Given the description of an element on the screen output the (x, y) to click on. 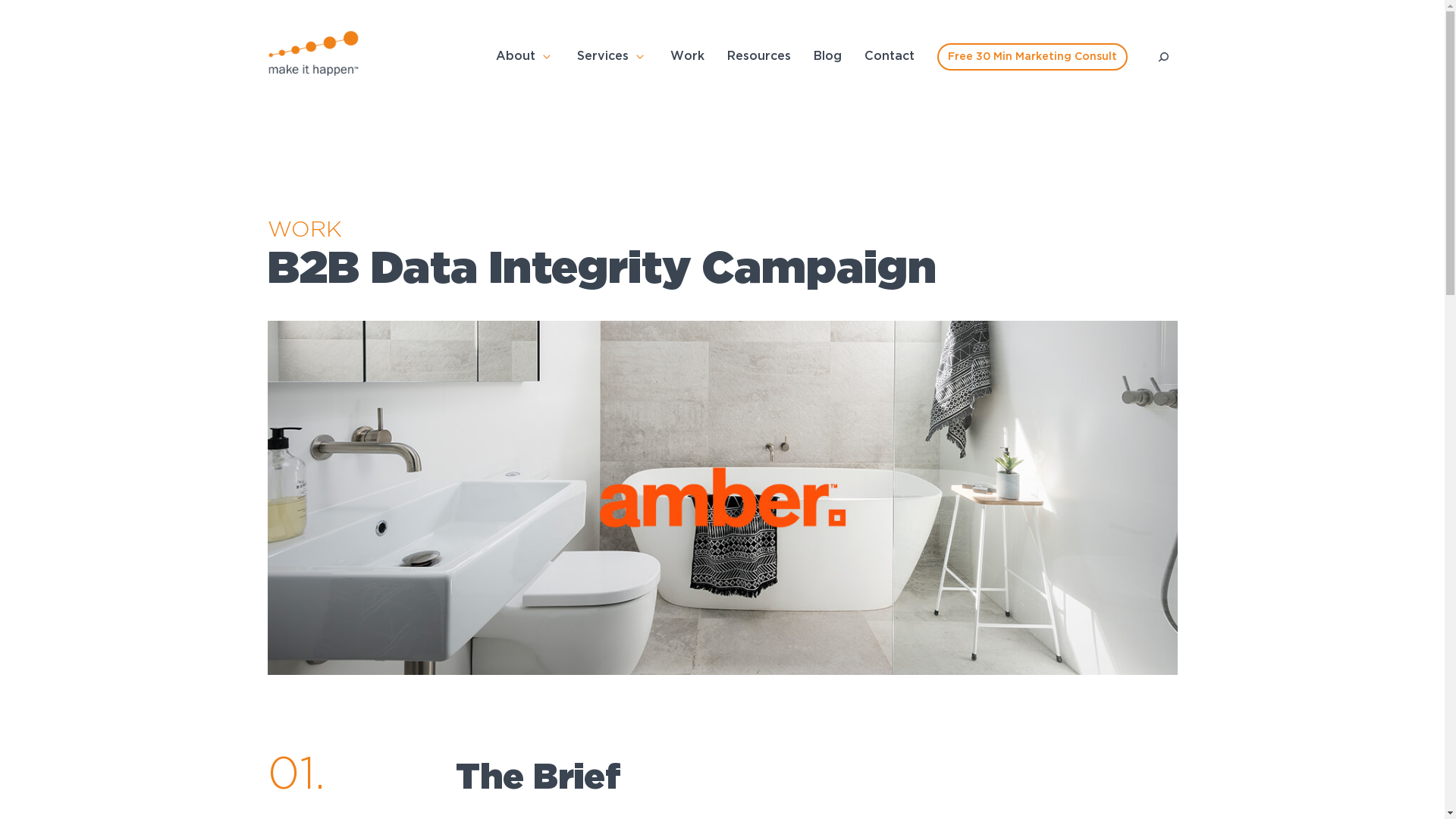
Services
expand_more Element type: text (611, 56)
About
expand_more Element type: text (524, 56)
Blog Element type: text (826, 56)
Free 30 Min Marketing Consult Element type: text (1032, 56)
Contact Element type: text (889, 56)
Work Element type: text (687, 56)
Resources Element type: text (758, 56)
